Given the description of an element on the screen output the (x, y) to click on. 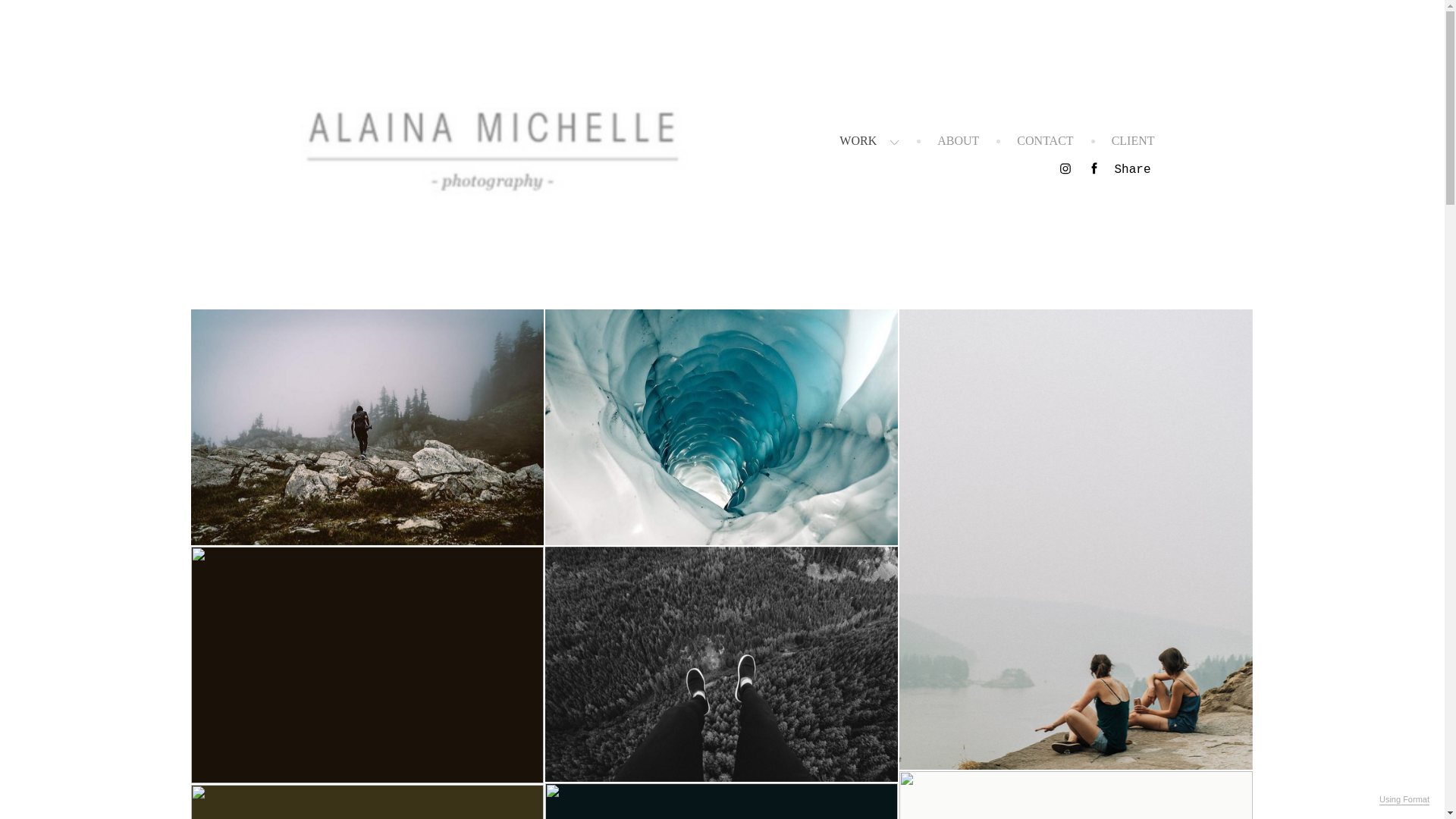
Share Element type: text (1131, 169)
CLIENT Element type: text (1132, 140)
CONTACT Element type: text (1044, 140)
ABOUT Element type: text (958, 140)
Using Format Element type: text (1404, 799)
WORK Element type: text (869, 140)
